Given the description of an element on the screen output the (x, y) to click on. 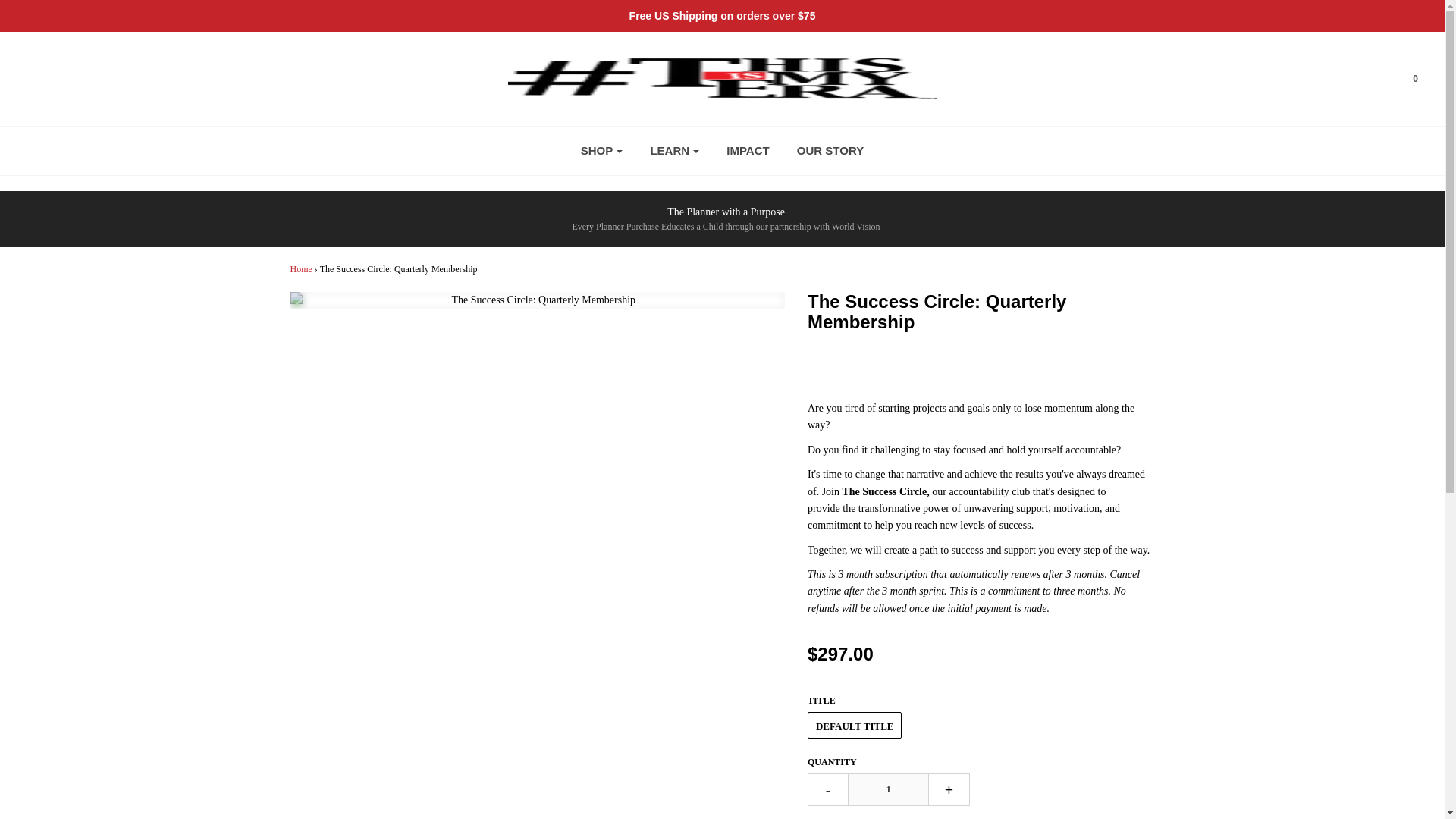
LEARN (674, 150)
IMPACT (747, 150)
0 (1405, 78)
Cart (1405, 78)
1 (887, 789)
SHOP (601, 150)
Back to the frontpage (300, 268)
OUR STORY (830, 150)
